Given the description of an element on the screen output the (x, y) to click on. 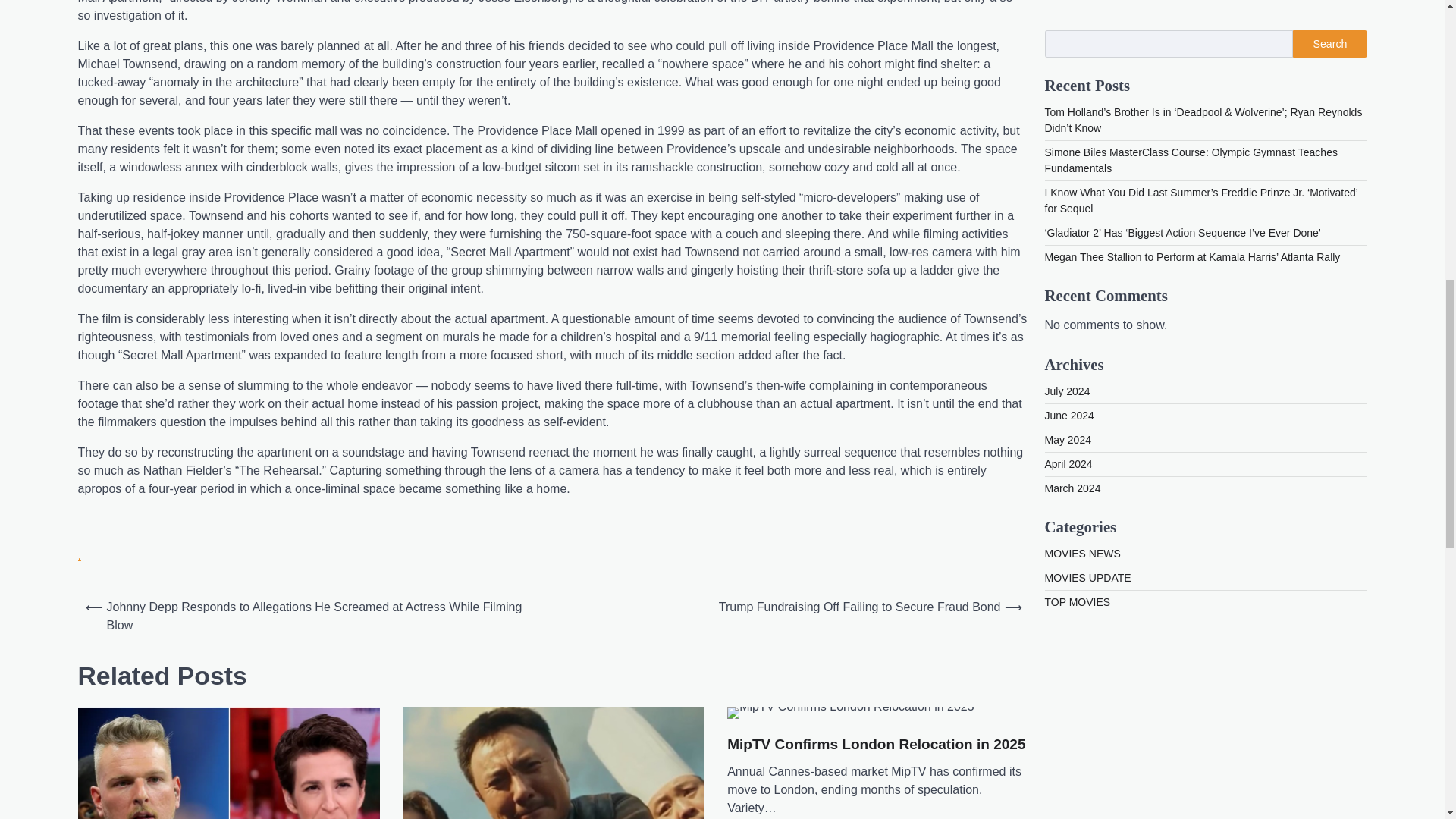
MipTV Confirms London Relocation in 2025 (850, 712)
MipTV Confirms London Relocation in 2025 (875, 744)
